Given the description of an element on the screen output the (x, y) to click on. 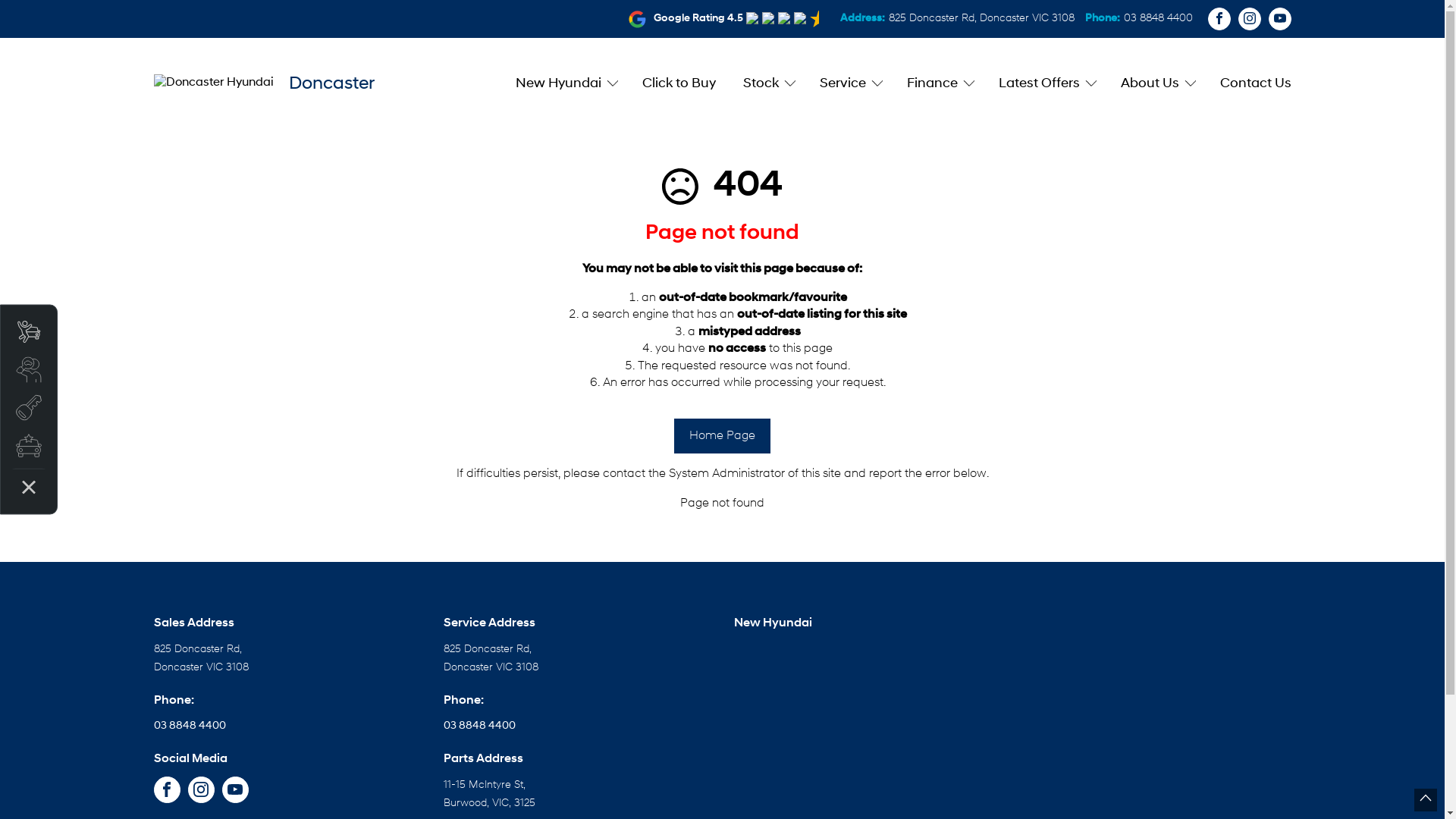
Stock Element type: text (767, 82)
Click to Buy Element type: text (677, 82)
Latest Offers Element type: text (1045, 82)
Finance Element type: text (939, 82)
Doncaster Element type: text (263, 81)
825 Doncaster Rd, Doncaster VIC 3108 Element type: text (981, 18)
About Us Element type: text (1156, 82)
03 8848 4400 Element type: text (189, 725)
03 8848 4400 Element type: text (1157, 18)
Google Rating 4.5 Element type: text (698, 18)
03 8848 4400 Element type: text (479, 725)
Service Element type: text (848, 82)
Home Page Element type: text (722, 435)
New Hyundai Element type: text (565, 82)
Contact Us Element type: text (1247, 82)
